Given the description of an element on the screen output the (x, y) to click on. 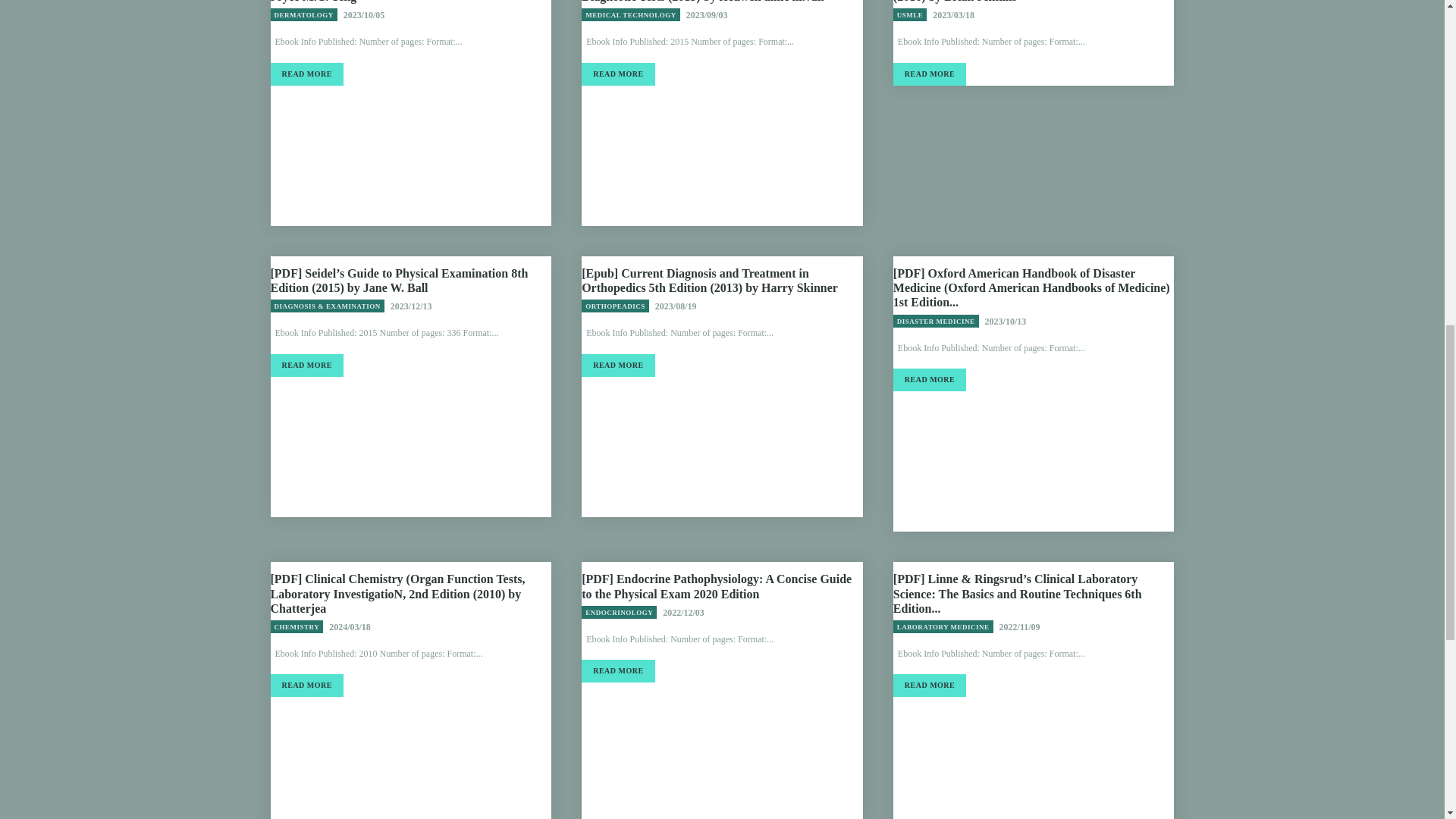
MEDICAL TECHNOLOGY (629, 14)
READ MORE (616, 364)
Read more (305, 74)
DERMATOLOGY (302, 14)
Read more (616, 364)
READ MORE (305, 364)
Read more (929, 74)
ORTHOPEADICS (614, 305)
READ MORE (305, 74)
READ MORE (929, 74)
READ MORE (616, 74)
Read more (616, 74)
Read more (305, 364)
USMLE (910, 14)
